Given the description of an element on the screen output the (x, y) to click on. 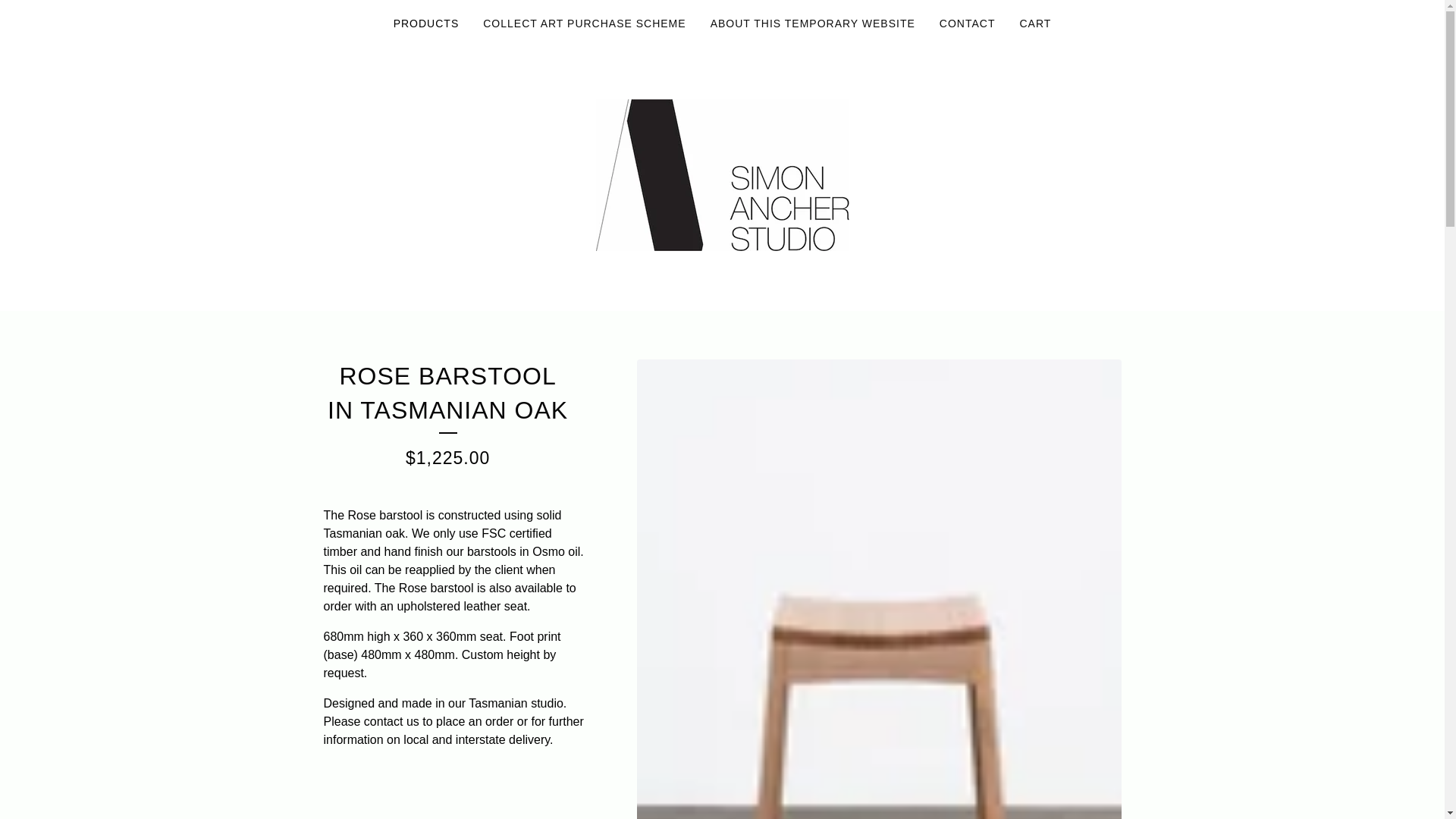
PRODUCTS (426, 23)
CONTACT (967, 23)
View COLLECT ART PURCHASE SCHEME (584, 23)
Home (721, 174)
ADD TO CART (453, 795)
View ABOUT THIS TEMPORARY WEBSITE (812, 23)
ABOUT THIS TEMPORARY WEBSITE (812, 23)
COLLECT ART PURCHASE SCHEME (584, 23)
CART (1035, 23)
